Given the description of an element on the screen output the (x, y) to click on. 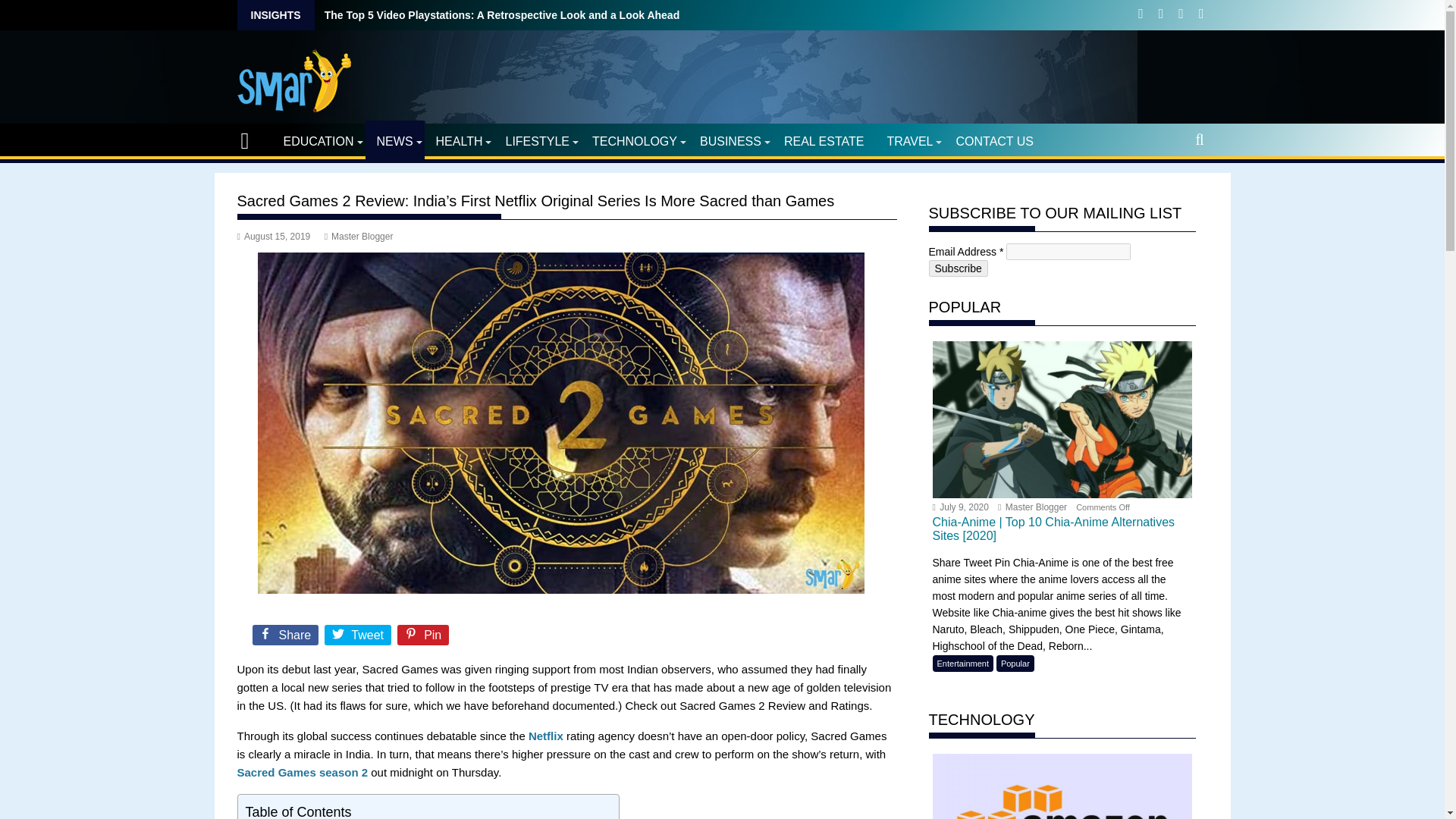
Subscribe (957, 268)
Share on Facebook (285, 637)
EDUCATION (317, 141)
Tweet (358, 637)
NEWS (395, 141)
HEALTH (460, 141)
Pin (424, 637)
